Given the description of an element on the screen output the (x, y) to click on. 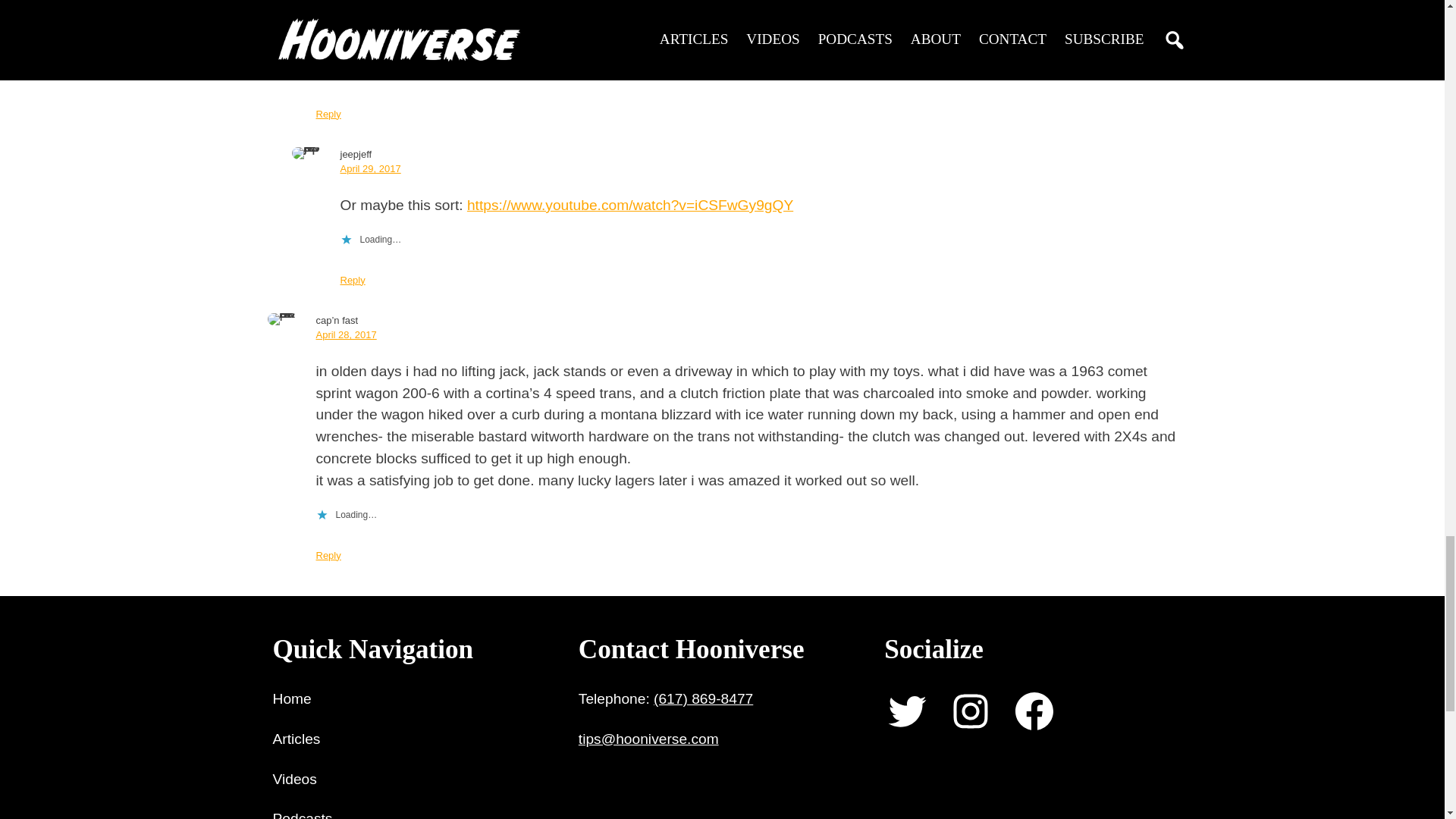
Reply (327, 113)
April 29, 2017 (369, 168)
Reply (352, 279)
April 28, 2017 (345, 334)
Reply (327, 555)
Home (292, 699)
